Given the description of an element on the screen output the (x, y) to click on. 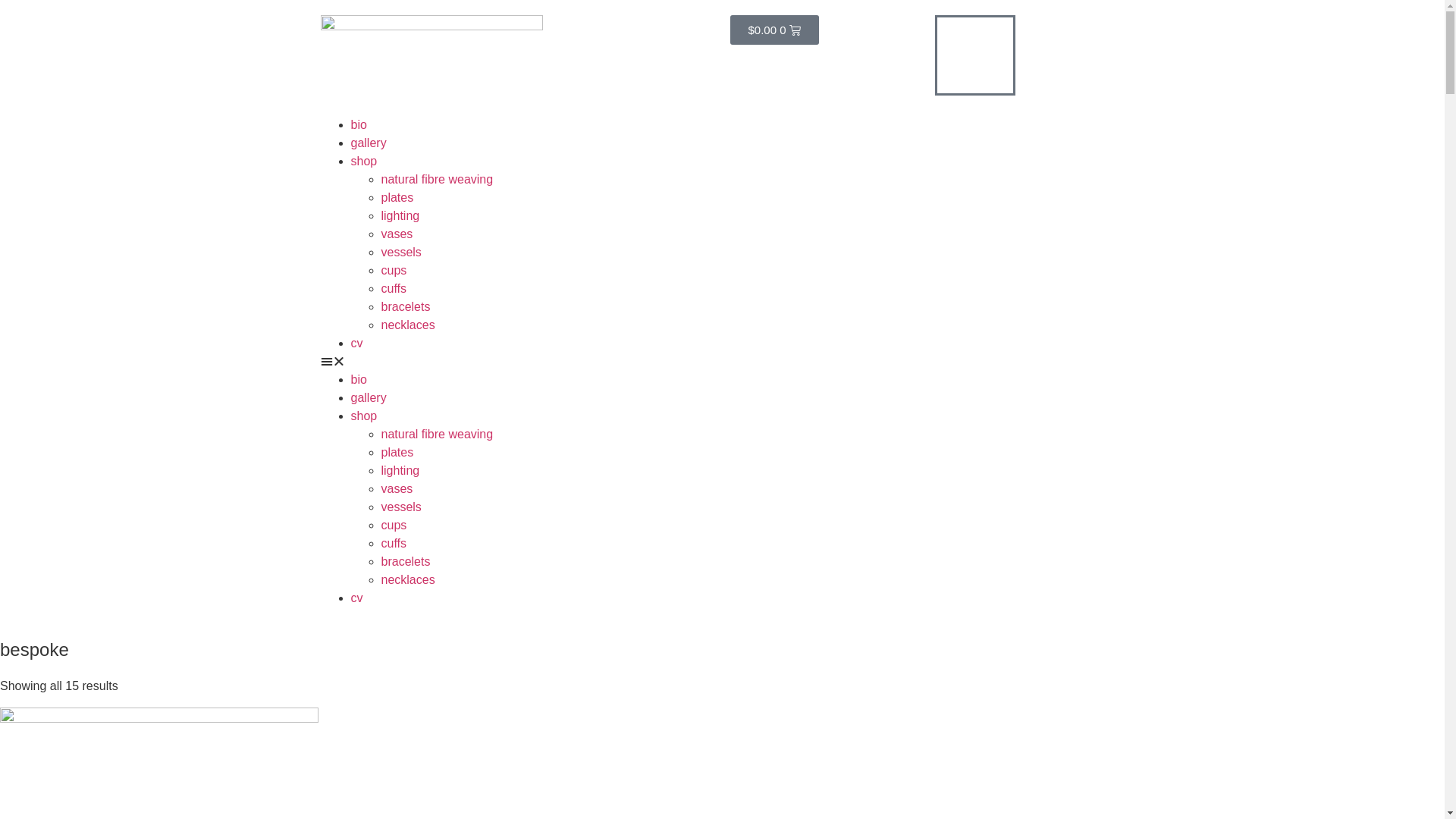
cuffs Element type: text (393, 542)
cv Element type: text (356, 342)
gallery Element type: text (367, 142)
bracelets Element type: text (404, 561)
necklaces Element type: text (407, 579)
lighting Element type: text (399, 215)
cups Element type: text (393, 269)
plates Element type: text (396, 451)
bio Element type: text (358, 124)
vases Element type: text (396, 233)
$0.00 0 Element type: text (773, 29)
cv Element type: text (356, 597)
bracelets Element type: text (404, 306)
shop Element type: text (363, 160)
vessels Element type: text (400, 506)
vases Element type: text (396, 488)
gallery Element type: text (367, 397)
necklaces Element type: text (407, 324)
lighting Element type: text (399, 470)
cuffs Element type: text (393, 288)
cups Element type: text (393, 524)
plates Element type: text (396, 197)
shop Element type: text (363, 415)
vessels Element type: text (400, 251)
bio Element type: text (358, 379)
natural fibre weaving Element type: text (436, 178)
natural fibre weaving Element type: text (436, 433)
